Given the description of an element on the screen output the (x, y) to click on. 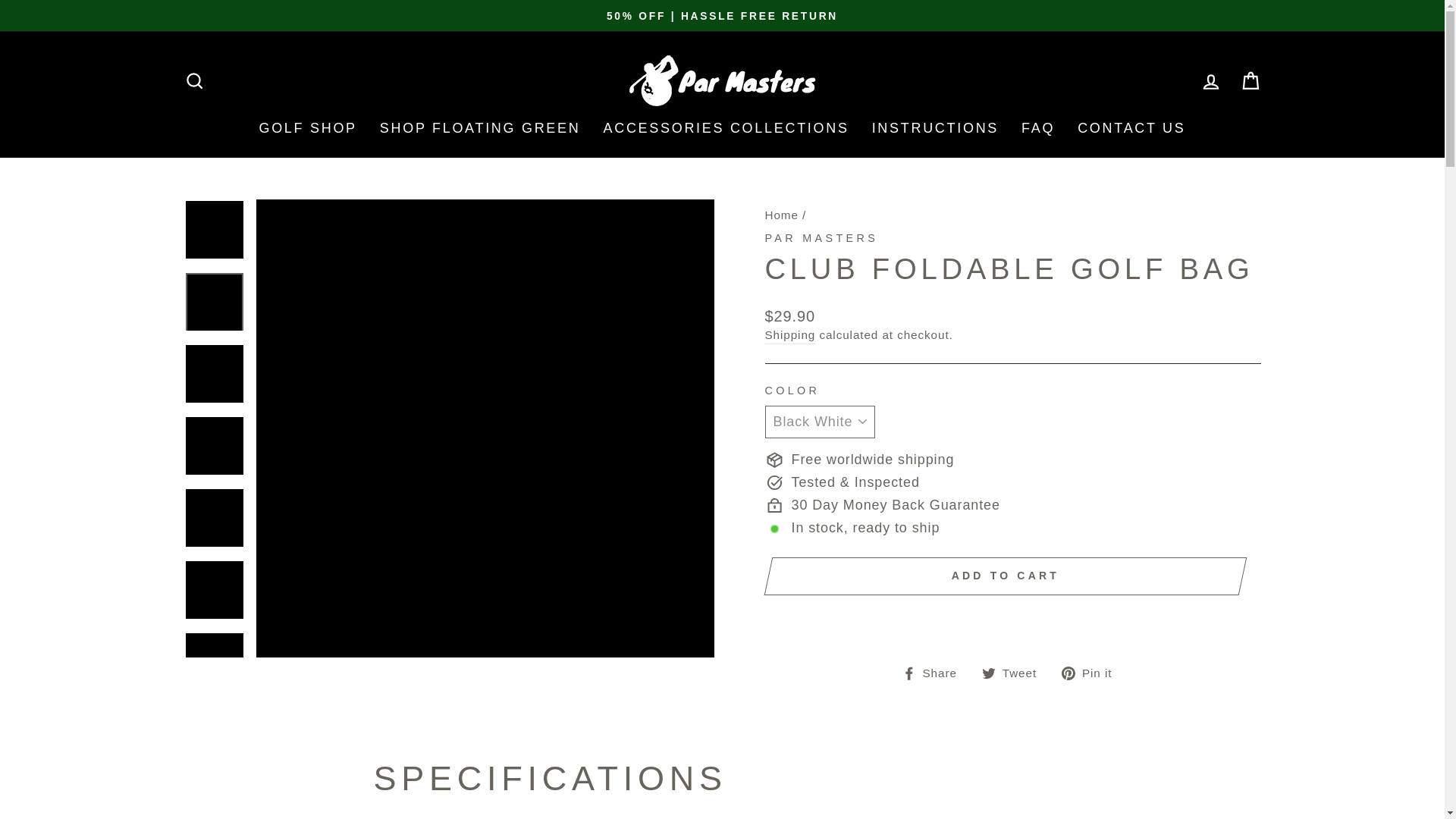
Par Masters (820, 237)
Pin on Pinterest (1091, 672)
Share on Facebook (935, 672)
Tweet on Twitter (1014, 672)
Back to the frontpage (780, 214)
